Given the description of an element on the screen output the (x, y) to click on. 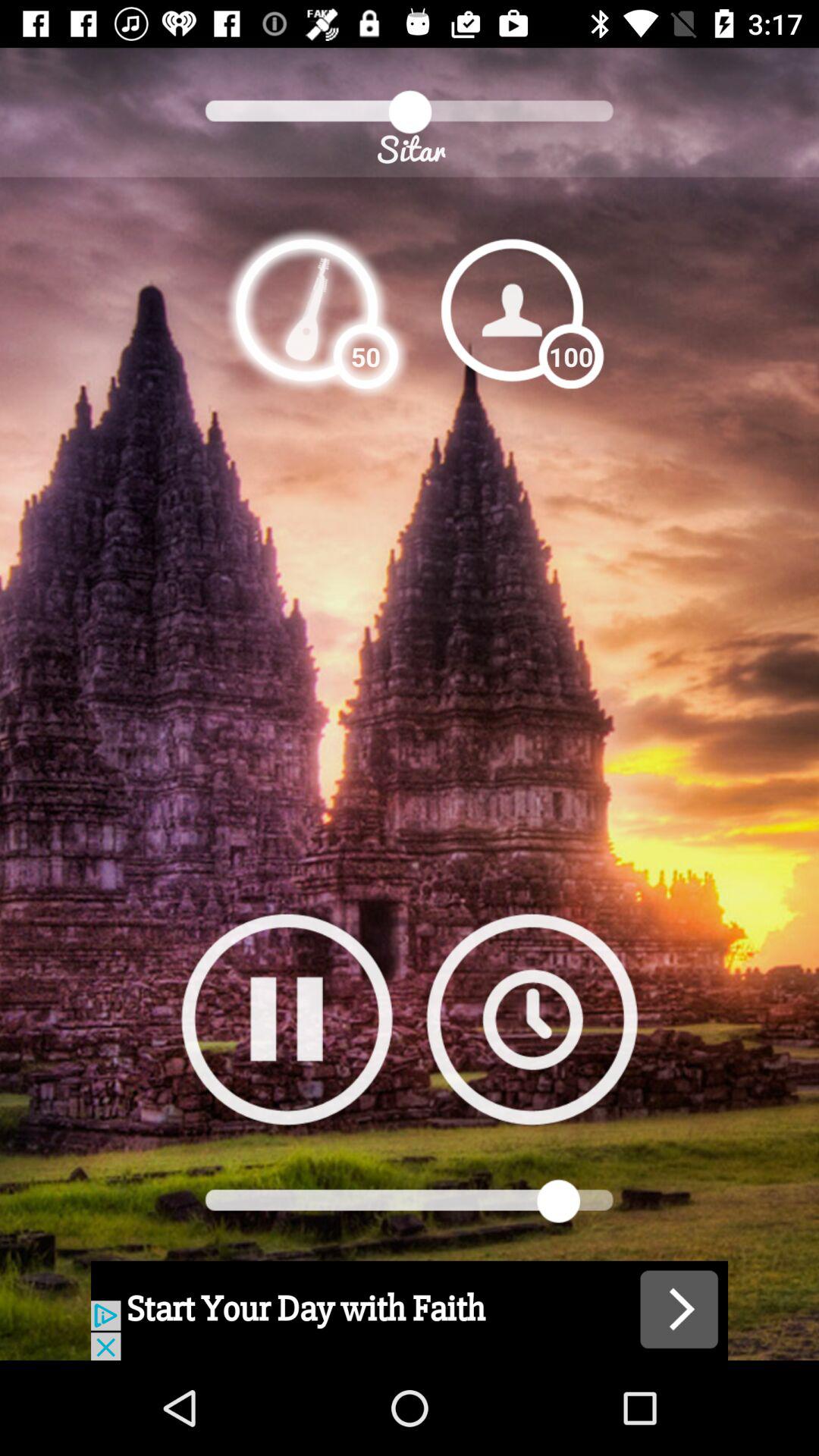
element volume control (306, 309)
